Given the description of an element on the screen output the (x, y) to click on. 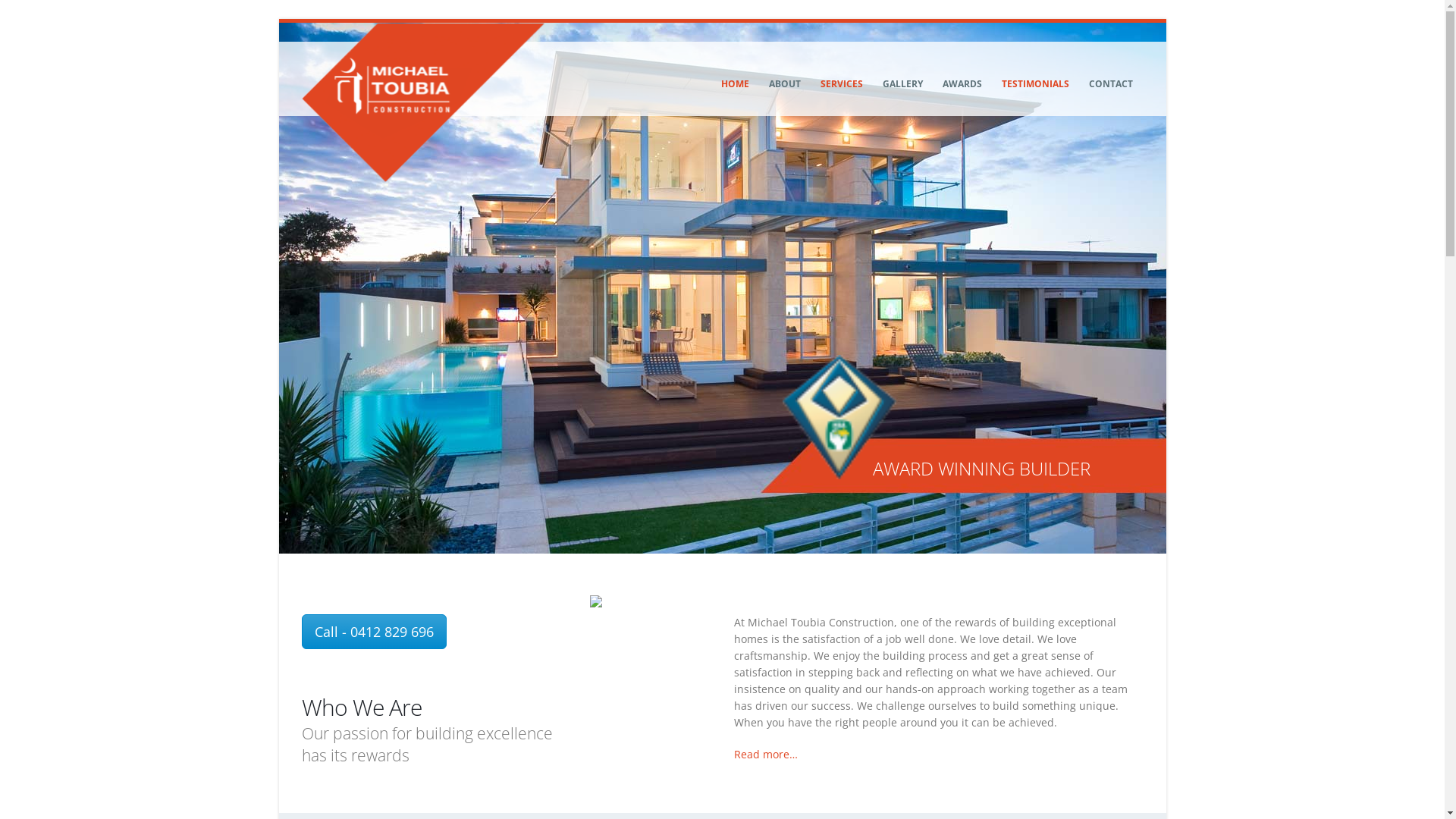
AWARDS Element type: text (961, 78)
HOME Element type: text (735, 78)
Call - 0412 829 696 Element type: text (373, 630)
SERVICES Element type: text (841, 78)
TESTIMONIALS Element type: text (1035, 78)
Call - 0412 829 696 Element type: text (373, 631)
CONTACT Element type: text (1110, 78)
ABOUT Element type: text (784, 78)
GALLERY Element type: text (902, 78)
